Given the description of an element on the screen output the (x, y) to click on. 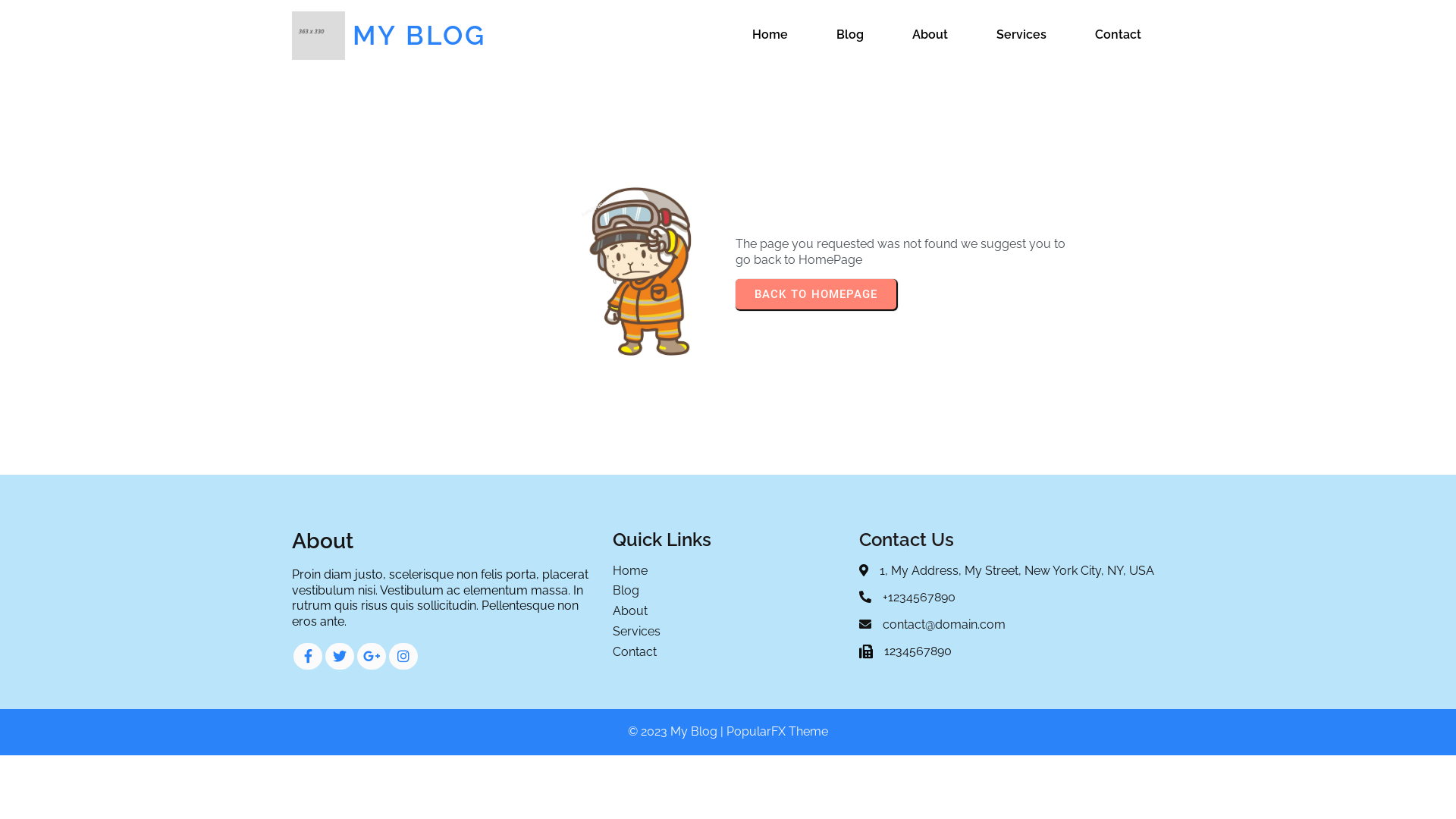
Blog Element type: text (728, 591)
About Element type: text (929, 34)
Contact Element type: text (1118, 34)
fab fa-instagram Element type: hover (403, 656)
Services Element type: text (728, 632)
fab fa-facebook-f Element type: hover (307, 656)
fab fa-twitter Element type: hover (339, 656)
Home Element type: text (769, 34)
Blog Element type: text (849, 34)
BACK TO HOMEPAGE Element type: text (815, 294)
About Element type: text (728, 611)
PopularFX Theme Element type: text (777, 731)
Home Element type: text (728, 571)
logo Element type: hover (318, 35)
Contact Element type: text (728, 652)
MY BLOG Element type: text (439, 35)
fab fa-google-plus-g Element type: hover (371, 656)
Services Element type: text (1021, 34)
